Given the description of an element on the screen output the (x, y) to click on. 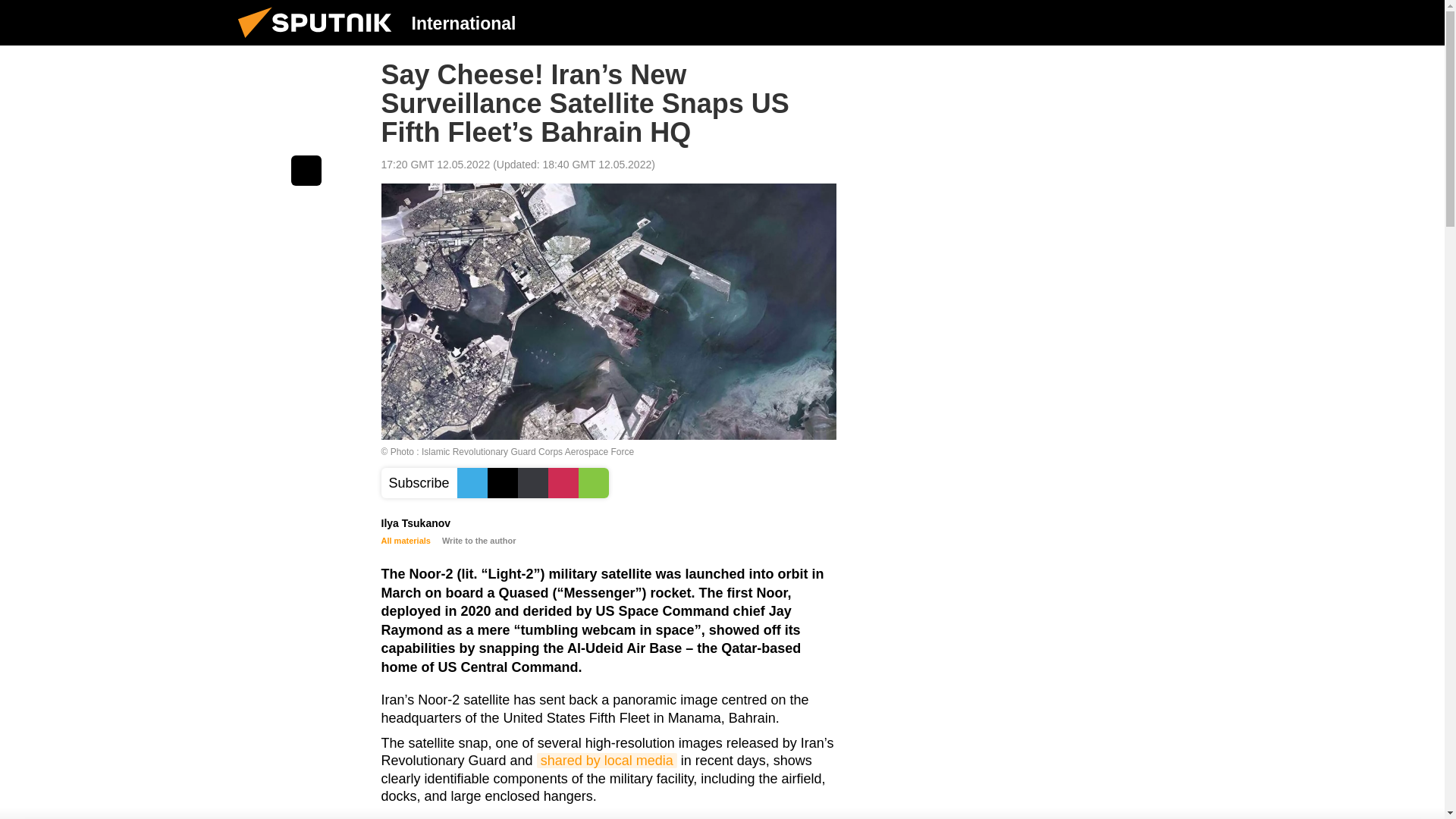
Sputnik International (319, 41)
Authorization (1123, 22)
Chats (1199, 22)
